Given the description of an element on the screen output the (x, y) to click on. 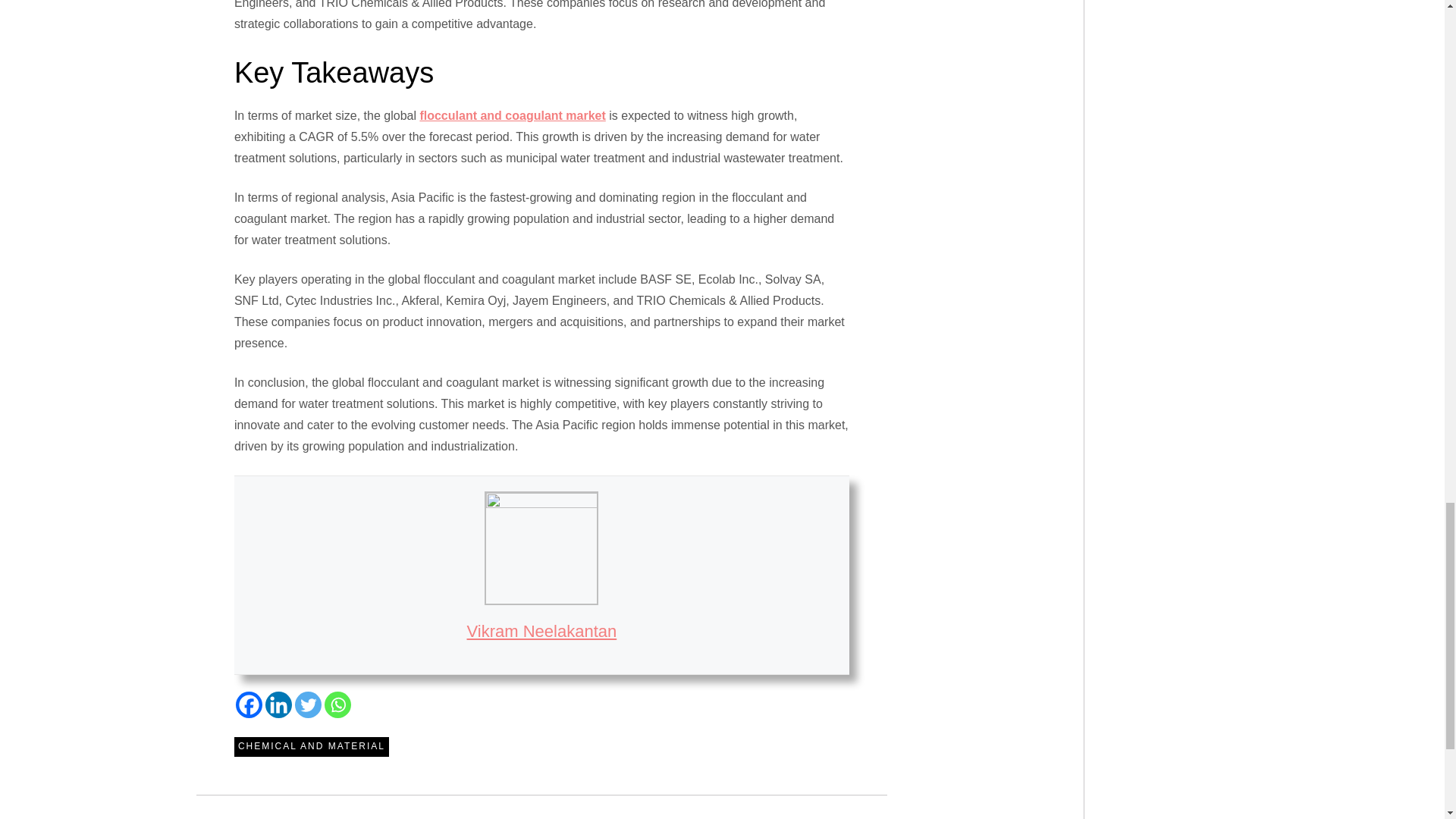
Whatsapp (337, 704)
CHEMICAL AND MATERIAL (311, 746)
Vikram Neelakantan (542, 630)
flocculant and coagulant market (512, 115)
Linkedin (278, 704)
Facebook (248, 704)
Twitter (308, 704)
